Given the description of an element on the screen output the (x, y) to click on. 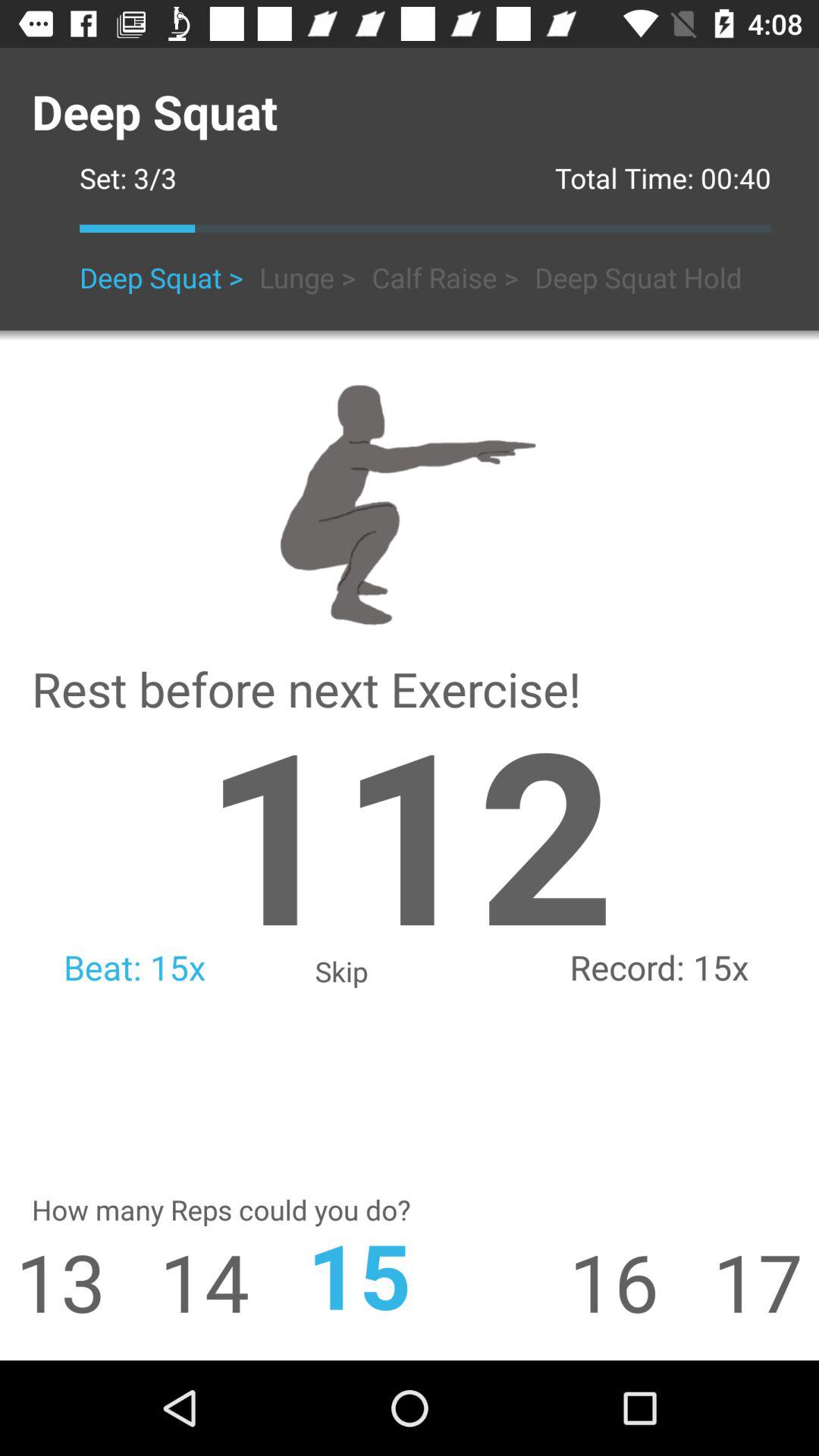
turn on icon to the left of 14 icon (52, 1281)
